Given the description of an element on the screen output the (x, y) to click on. 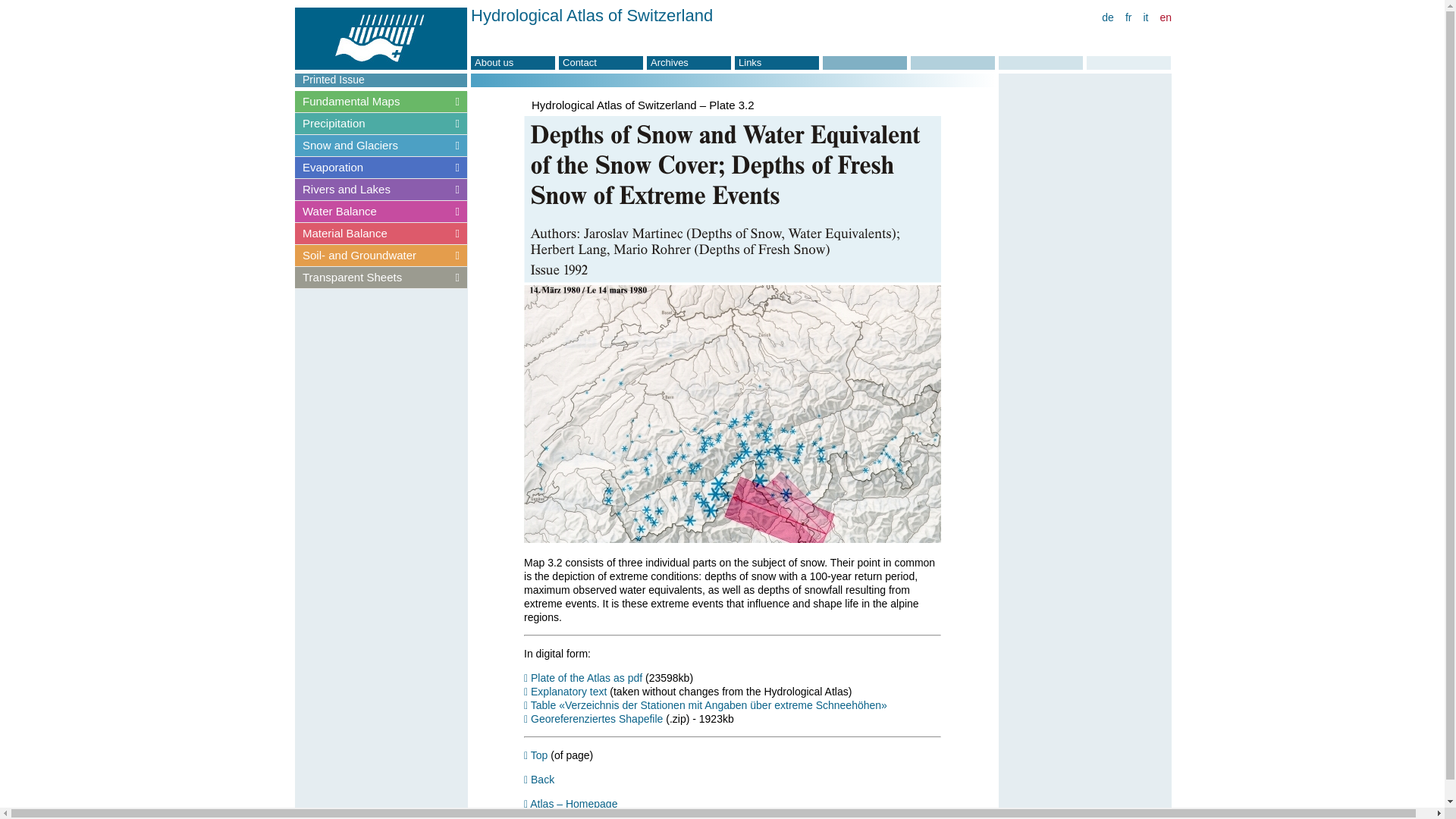
"Explanatory text" (565, 691)
Top (535, 755)
Fundamental Maps (381, 101)
"Plate of the Atlas as pdf" (583, 677)
Links (776, 61)
de (1107, 17)
About us (512, 61)
Printed Issue (381, 79)
Precipitation (381, 122)
"Georeferenziertes Shapefile" (593, 718)
Archives (688, 61)
Contact (601, 61)
return to the previous page (539, 779)
Snow and Glaciers (381, 145)
en (1165, 17)
